Given the description of an element on the screen output the (x, y) to click on. 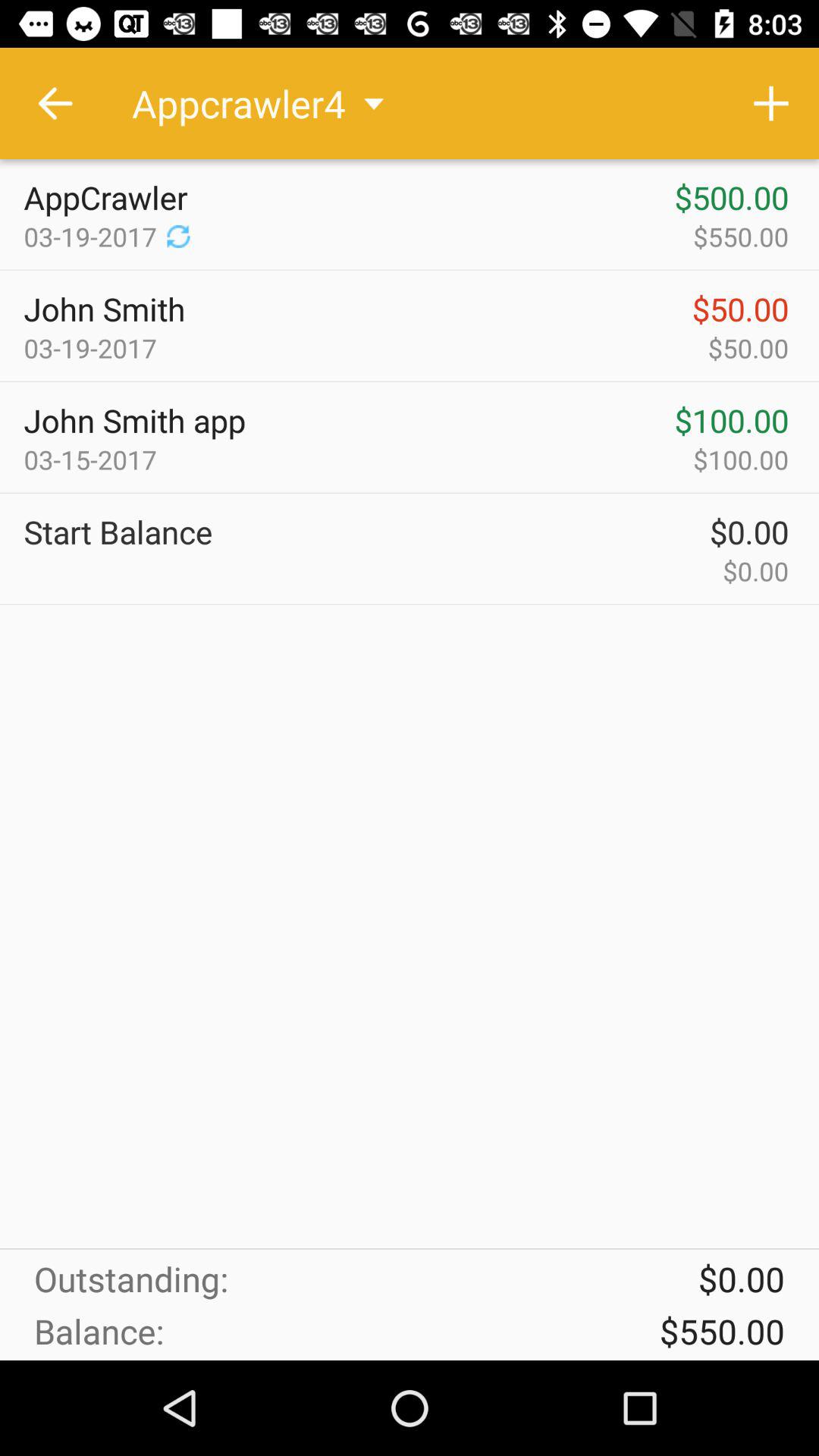
choose app above $500.00 (771, 103)
